Given the description of an element on the screen output the (x, y) to click on. 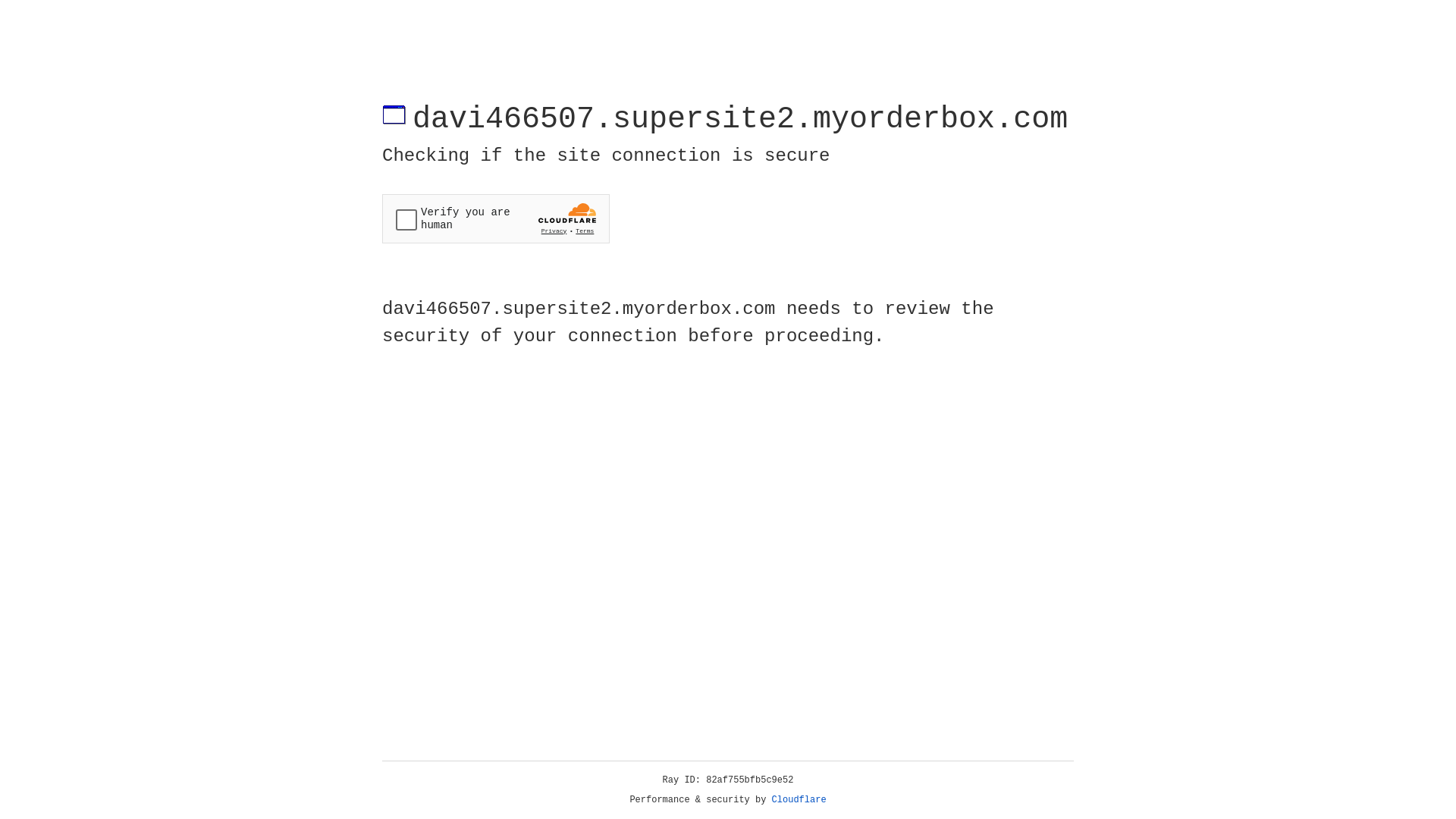
Widget containing a Cloudflare security challenge Element type: hover (495, 218)
Cloudflare Element type: text (798, 799)
